Given the description of an element on the screen output the (x, y) to click on. 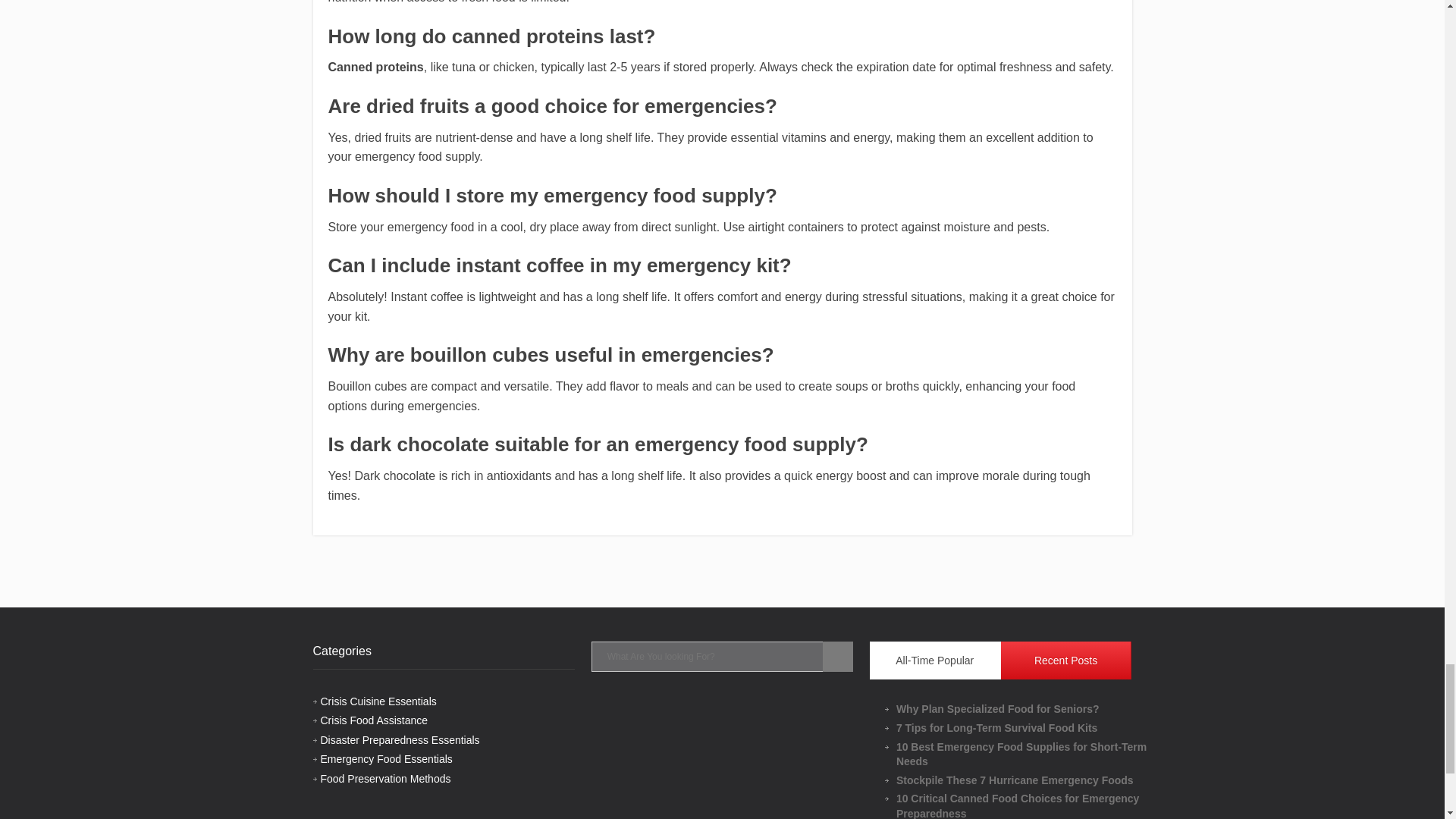
Recent Posts (1066, 660)
Emergency Food Essentials (385, 758)
Stockpile These 7 Hurricane Emergency Foods (1027, 780)
Why Plan Specialized Food for Seniors? (1027, 709)
10 Best Emergency Food Supplies for Short-Term Needs (1027, 754)
Disaster Preparedness Essentials (399, 739)
Crisis Food Assistance (374, 720)
Crisis Cuisine Essentials (377, 701)
7 Tips for Long-Term Survival Food Kits (1027, 728)
10 Critical Canned Food Choices for Emergency Preparedness (1027, 805)
